Given the description of an element on the screen output the (x, y) to click on. 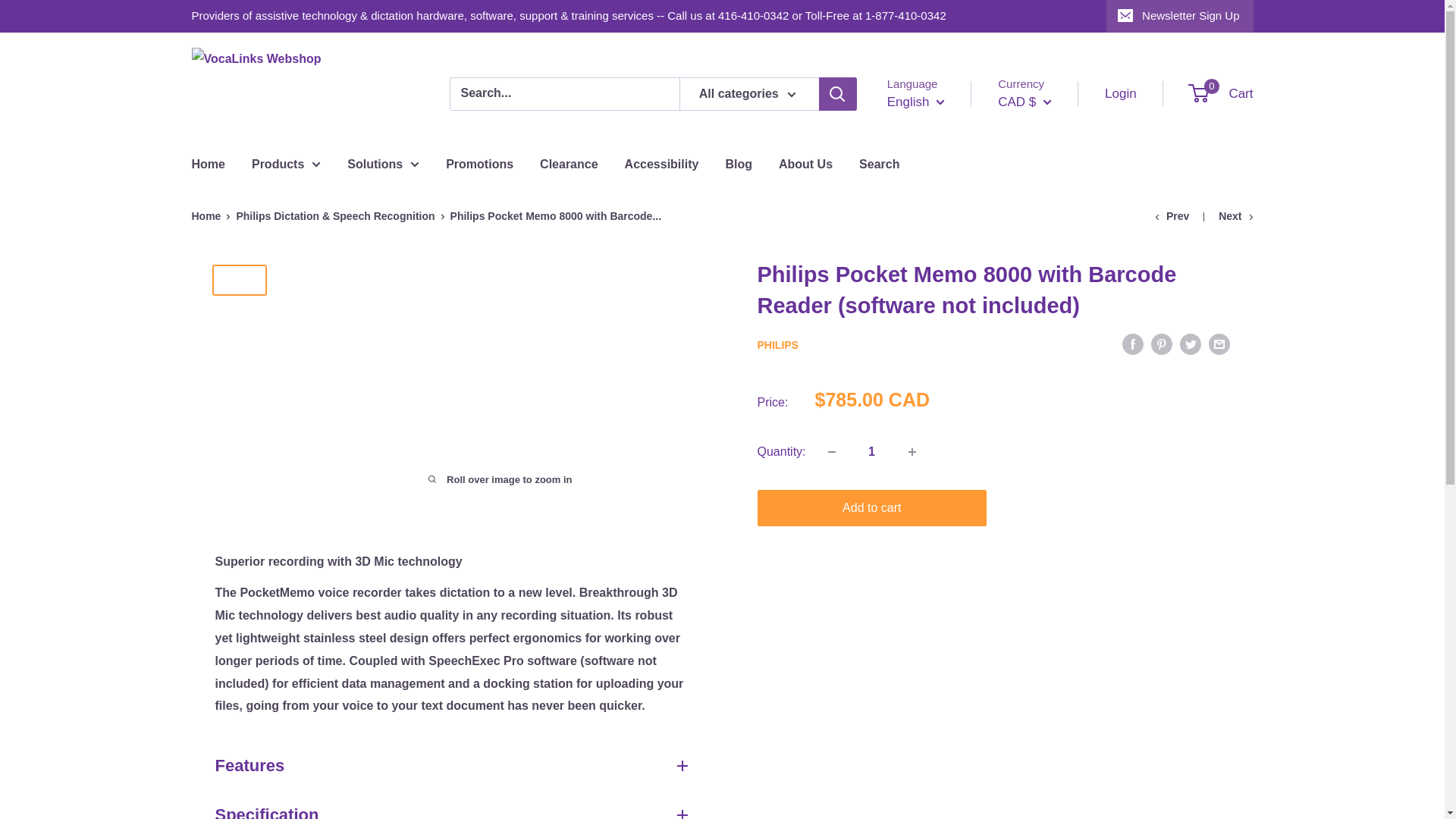
Decrease quantity by 1 (831, 451)
1 (871, 451)
Increase quantity by 1 (912, 451)
Newsletter Sign Up (1179, 15)
